Given the description of an element on the screen output the (x, y) to click on. 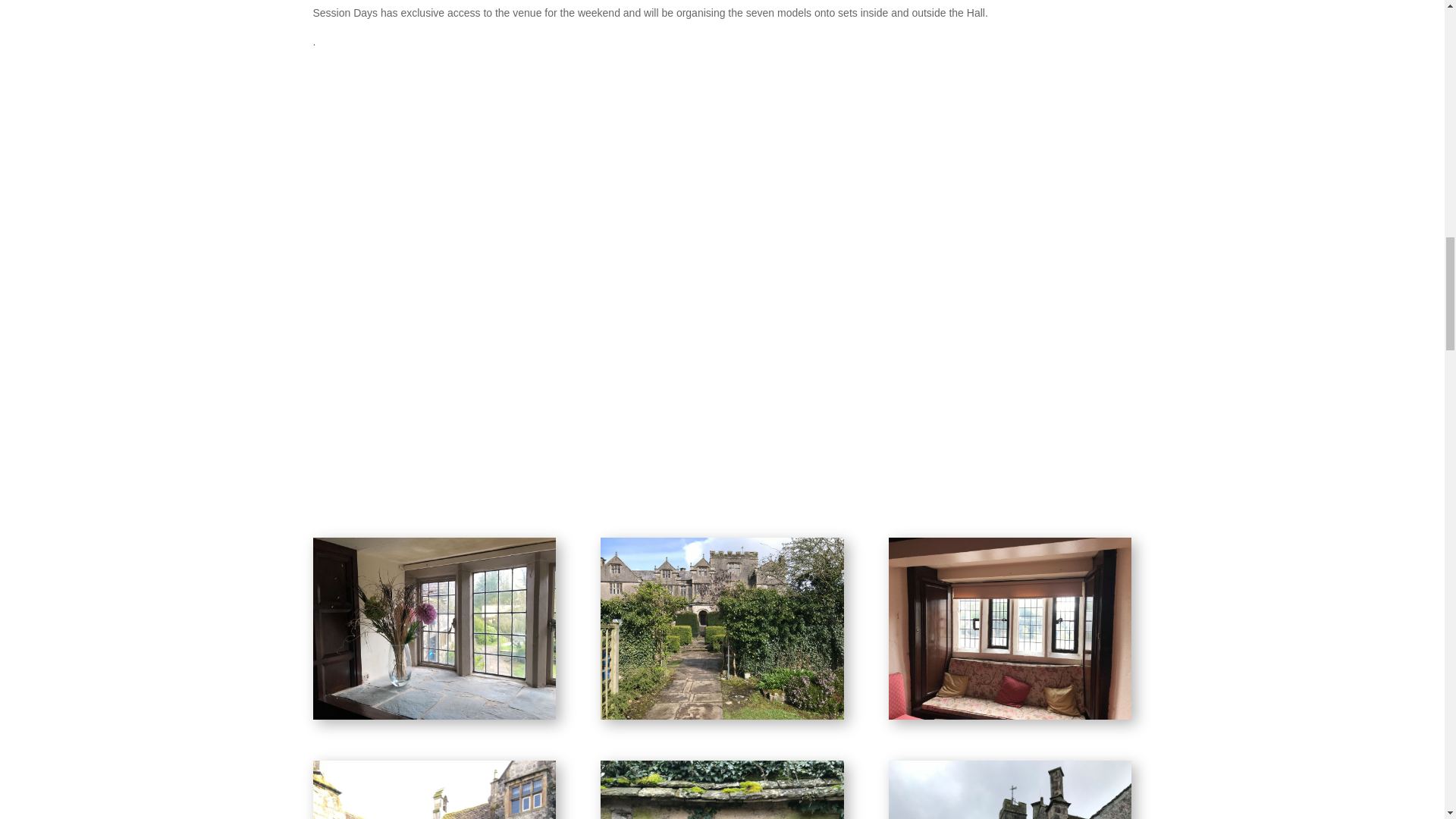
Borwick Hall (721, 628)
Borwick Hall (433, 789)
Borwick Hall (1009, 628)
Borwick Hall (721, 789)
Borwick Hall (433, 628)
